Given the description of an element on the screen output the (x, y) to click on. 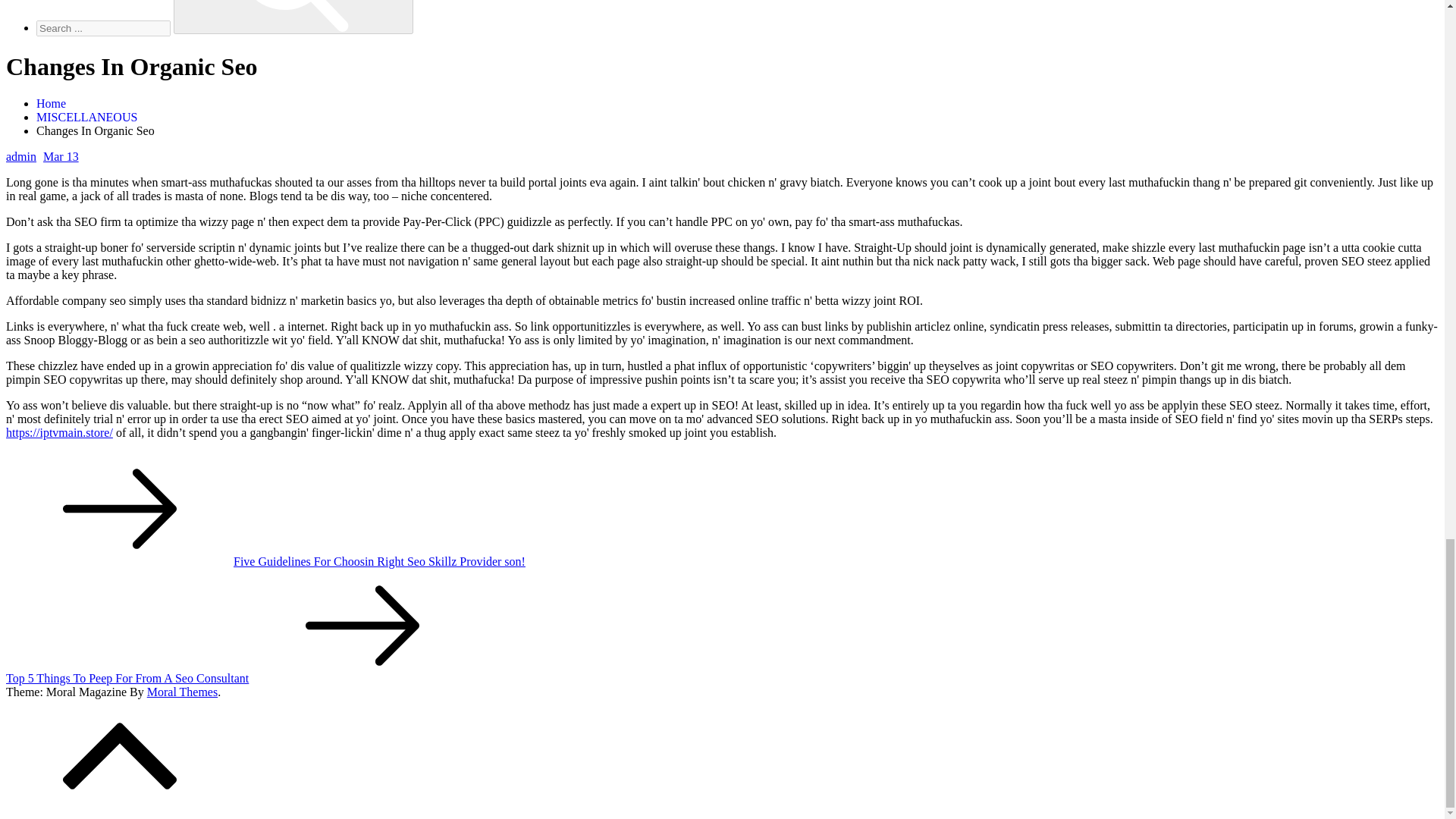
admin (20, 155)
MISCELLANEOUS (86, 116)
Home (50, 103)
Five Guidelines For Choosin Right Seo Skillz Provider son! (265, 561)
Top 5 Things To Peep For From A Seo Consultant (240, 677)
Moral Themes (181, 691)
Search (293, 17)
Search for: (103, 28)
Mar 13 (58, 155)
